Given the description of an element on the screen output the (x, y) to click on. 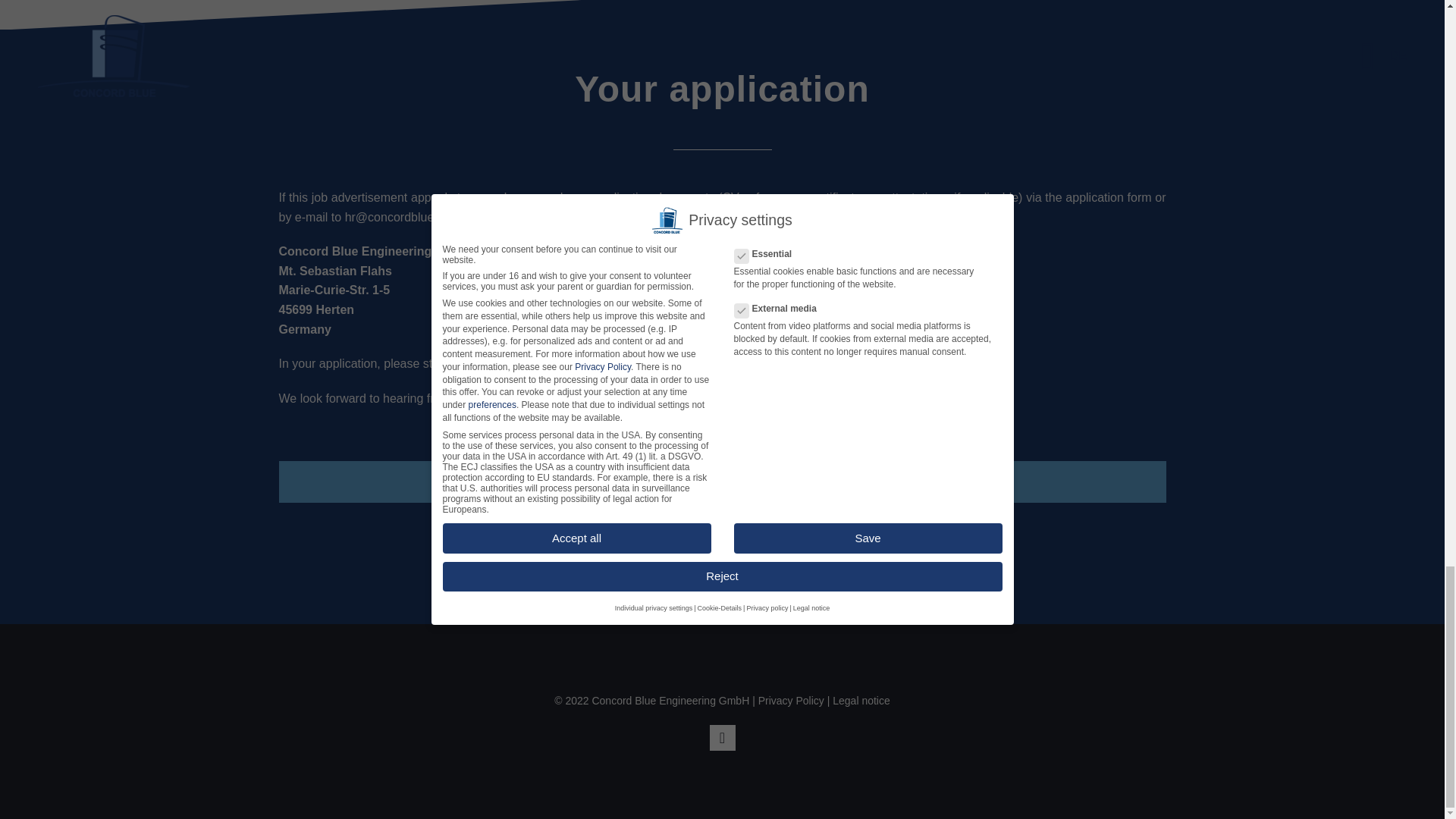
Legal notice (860, 700)
application form (1108, 196)
TO THE APPLICATION FORM (722, 481)
Privacy Policy (791, 700)
